Given the description of an element on the screen output the (x, y) to click on. 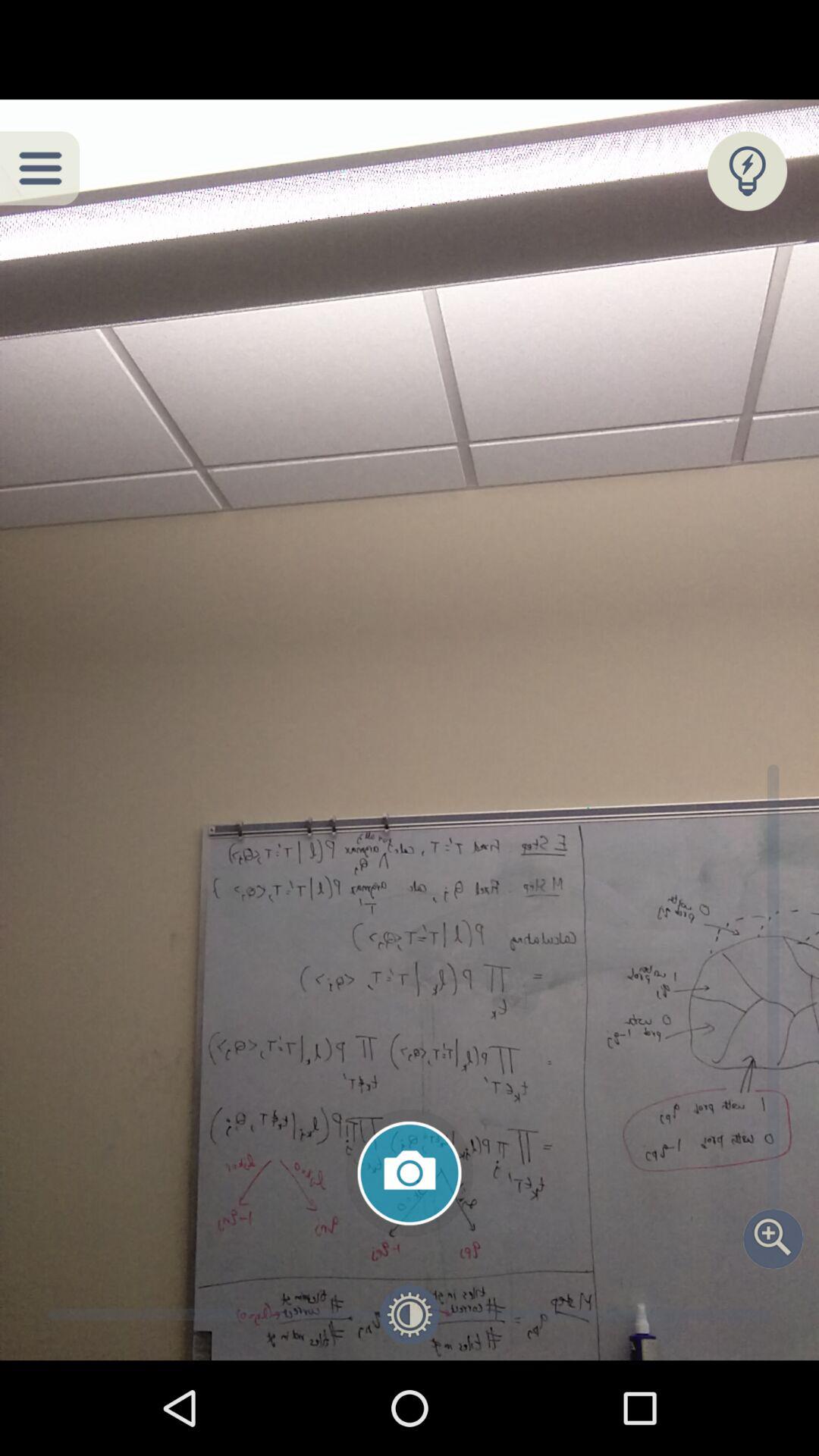
take picture (409, 1173)
